Given the description of an element on the screen output the (x, y) to click on. 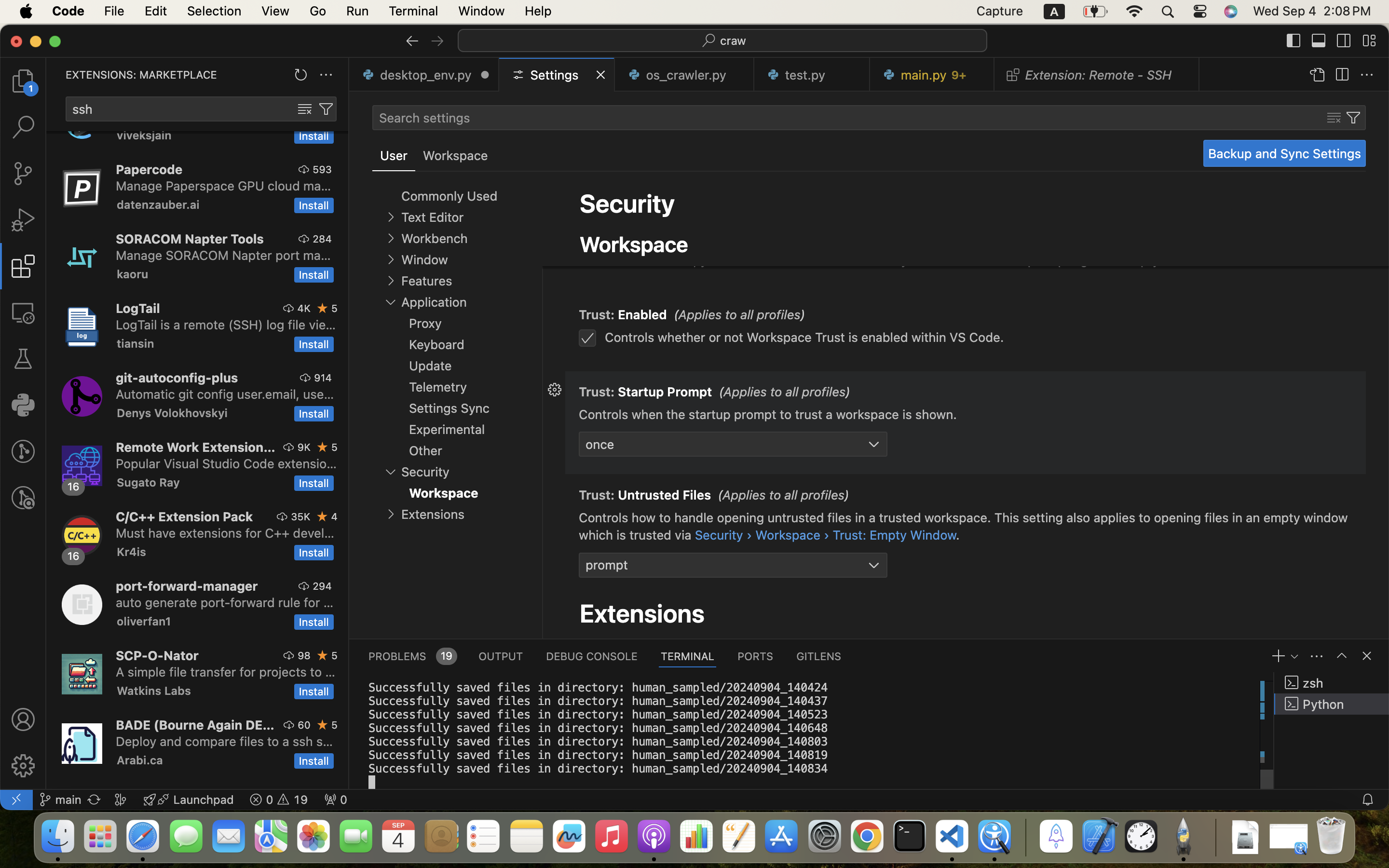
Sugato Ray Element type: AXStaticText (148, 481)
 0 Element type: AXButton (335, 799)
Security Element type: AXStaticText (627, 203)
1 Settings   Element type: AXRadioButton (557, 74)
LogTail Element type: AXStaticText (137, 307)
